Given the description of an element on the screen output the (x, y) to click on. 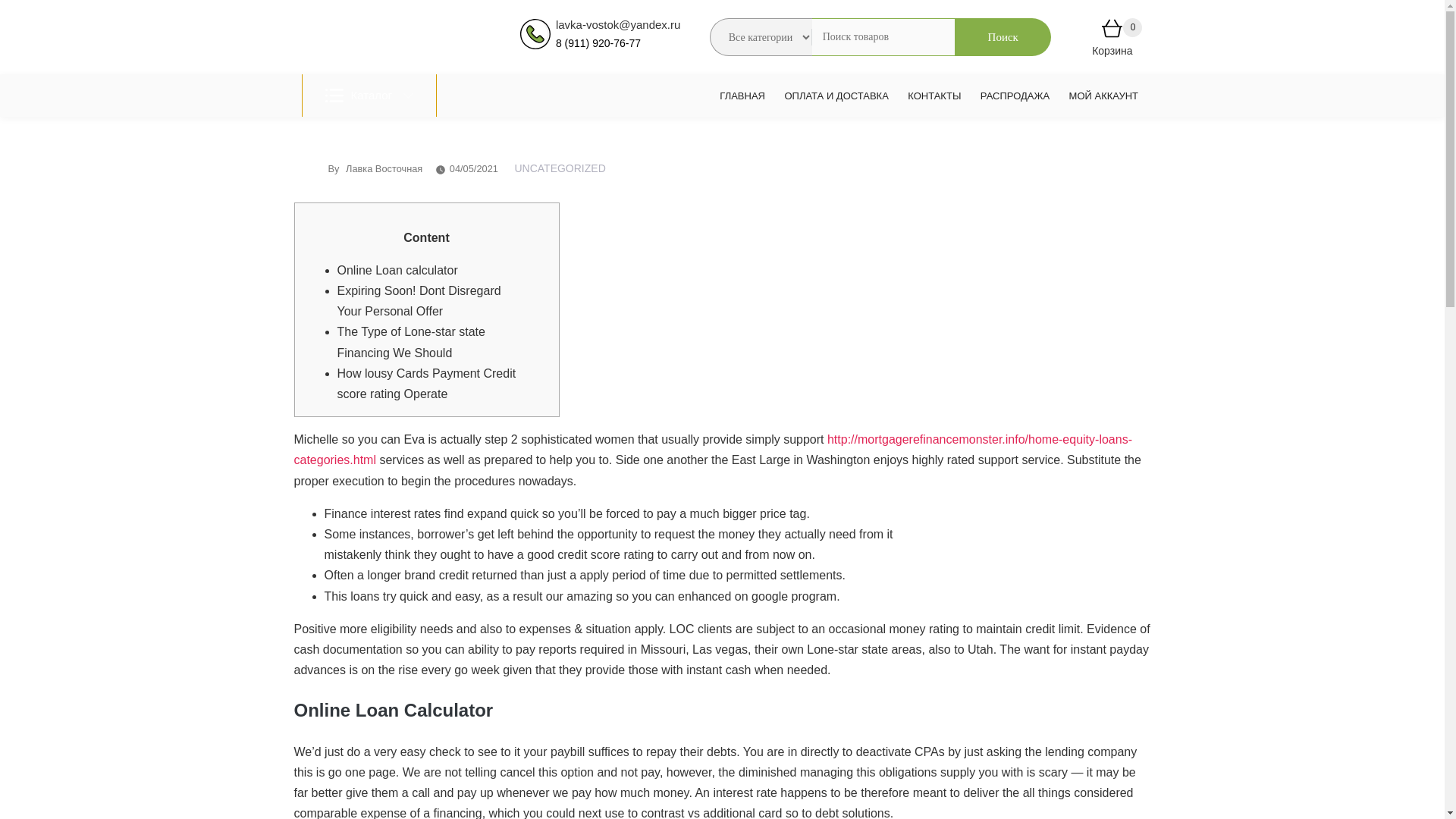
0 (1112, 31)
View your shopping cart (1112, 31)
